Given the description of an element on the screen output the (x, y) to click on. 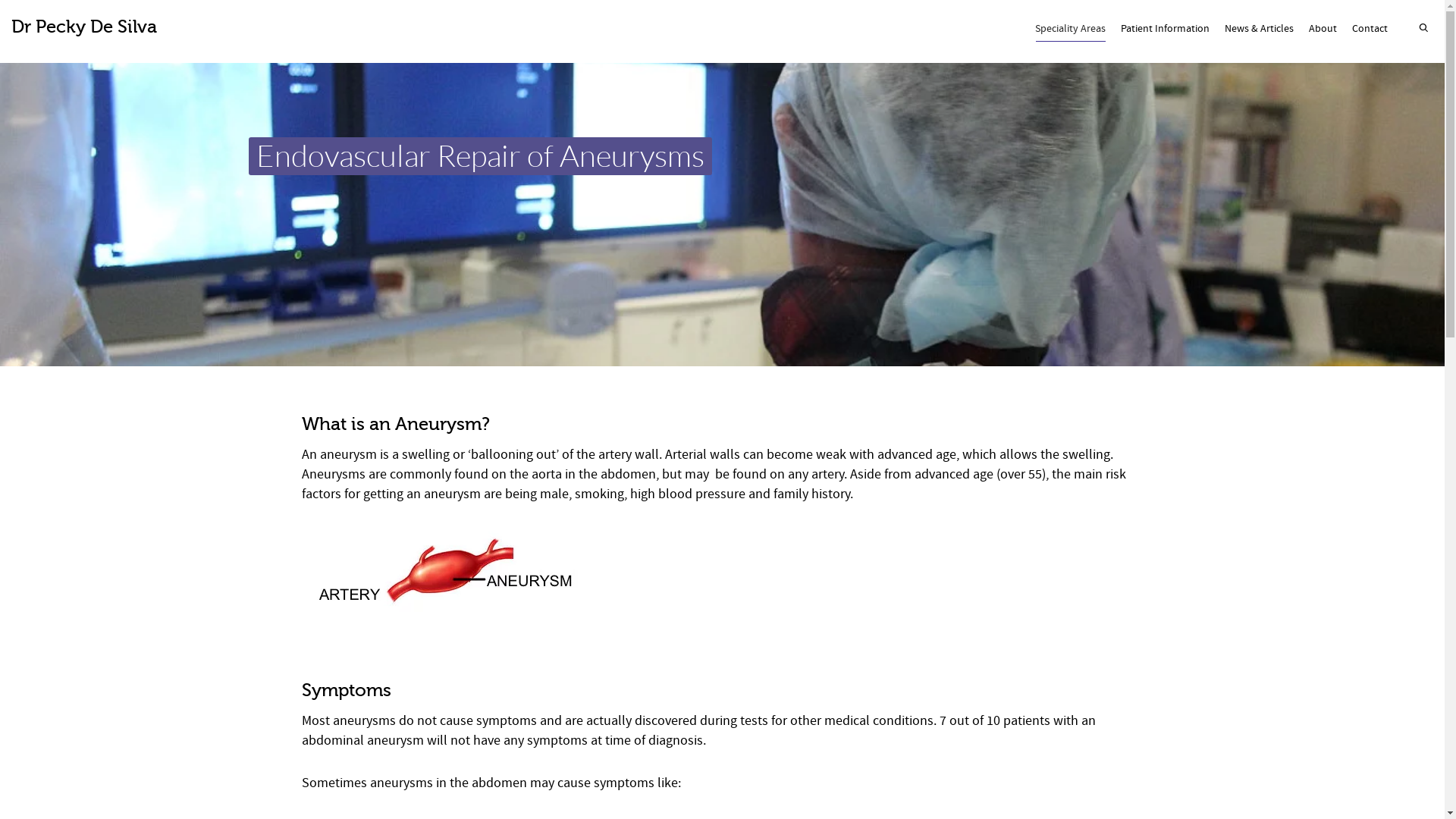
Contact Element type: text (1369, 29)
About Element type: text (1322, 29)
News & Articles Element type: text (1258, 29)
Patient Information Element type: text (1164, 29)
Dr Pecky De Silva Element type: text (83, 27)
Speciality Areas Element type: text (1070, 29)
